Given the description of an element on the screen output the (x, y) to click on. 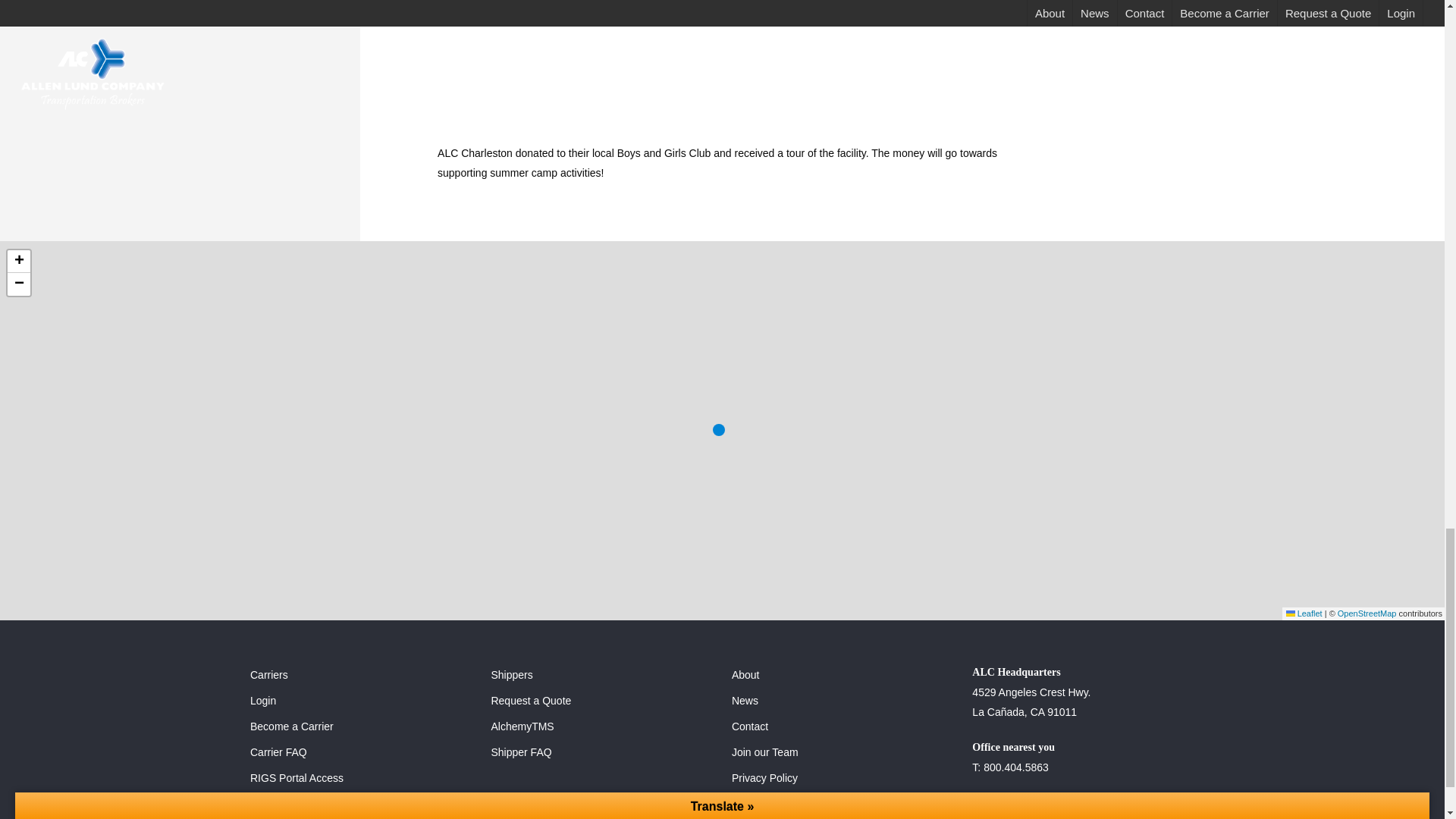
Shipper FAQ (601, 752)
Shippers (601, 674)
About (842, 674)
Login (360, 700)
Join our Team (842, 752)
Zoom out (18, 283)
News (842, 700)
Carriers (360, 674)
AlchemyTMS (601, 726)
Leaflet (1303, 613)
OpenStreetMap (1367, 613)
Contact (842, 726)
Become a Carrier (360, 726)
A JavaScript library for interactive maps (1303, 613)
Carrier FAQ (360, 752)
